Given the description of an element on the screen output the (x, y) to click on. 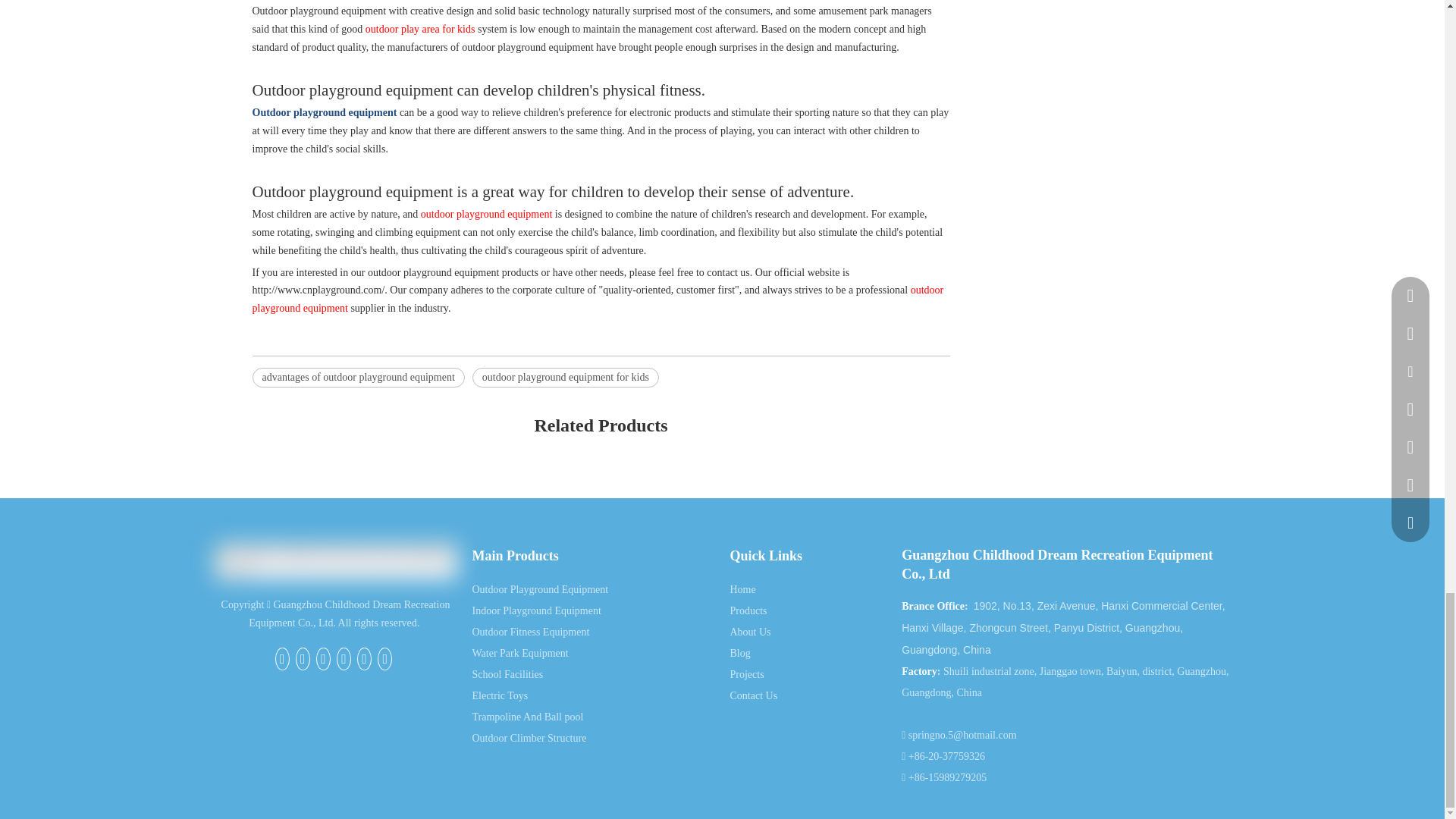
Twitter (343, 658)
Indoor Playground Equipment (535, 610)
Outdoor Playground Equipment (539, 589)
Outdoor Fitness Equipment (530, 632)
Youtube (363, 658)
Instagram (384, 658)
Guangzhou Childhood Dream Recreation Equipment Co., Ltd (335, 561)
Facebook (282, 658)
Linkedin (322, 658)
outdoor playground equipment for kids (565, 377)
advantages of outdoor playground equipment (357, 377)
